Given the description of an element on the screen output the (x, y) to click on. 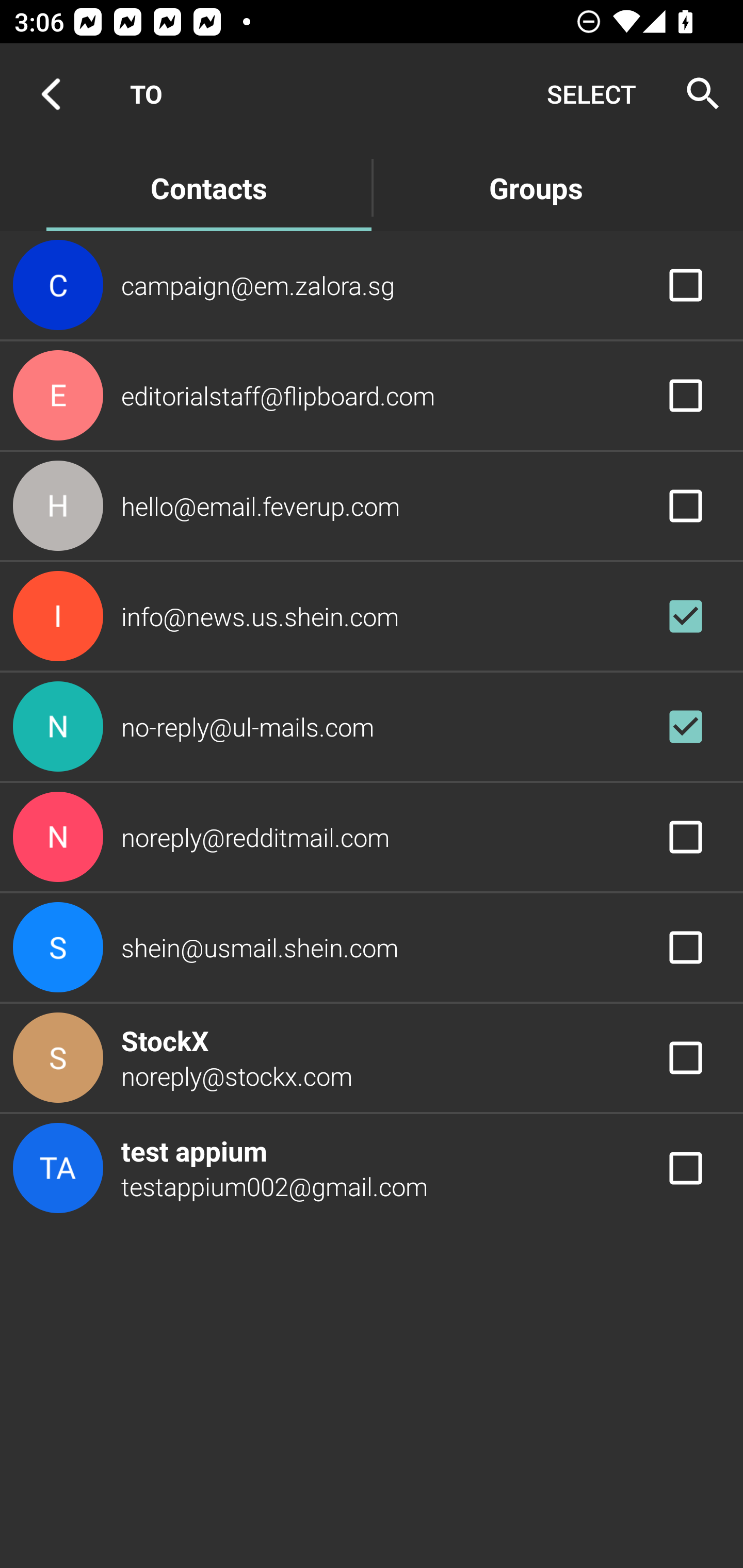
Navigate up (50, 93)
SELECT (590, 93)
Search (696, 93)
Contacts (208, 187)
Groups (535, 187)
campaign@em.zalora.sg (371, 284)
editorialstaff@flipboard.com (371, 395)
hello@email.feverup.com (371, 505)
info@news.us.shein.com (371, 616)
no-reply@ul-mails.com (371, 726)
noreply@redditmail.com (371, 836)
shein@usmail.shein.com (371, 947)
StockX noreply@stockx.com (371, 1057)
test appium testappium002@gmail.com (371, 1168)
